Given the description of an element on the screen output the (x, y) to click on. 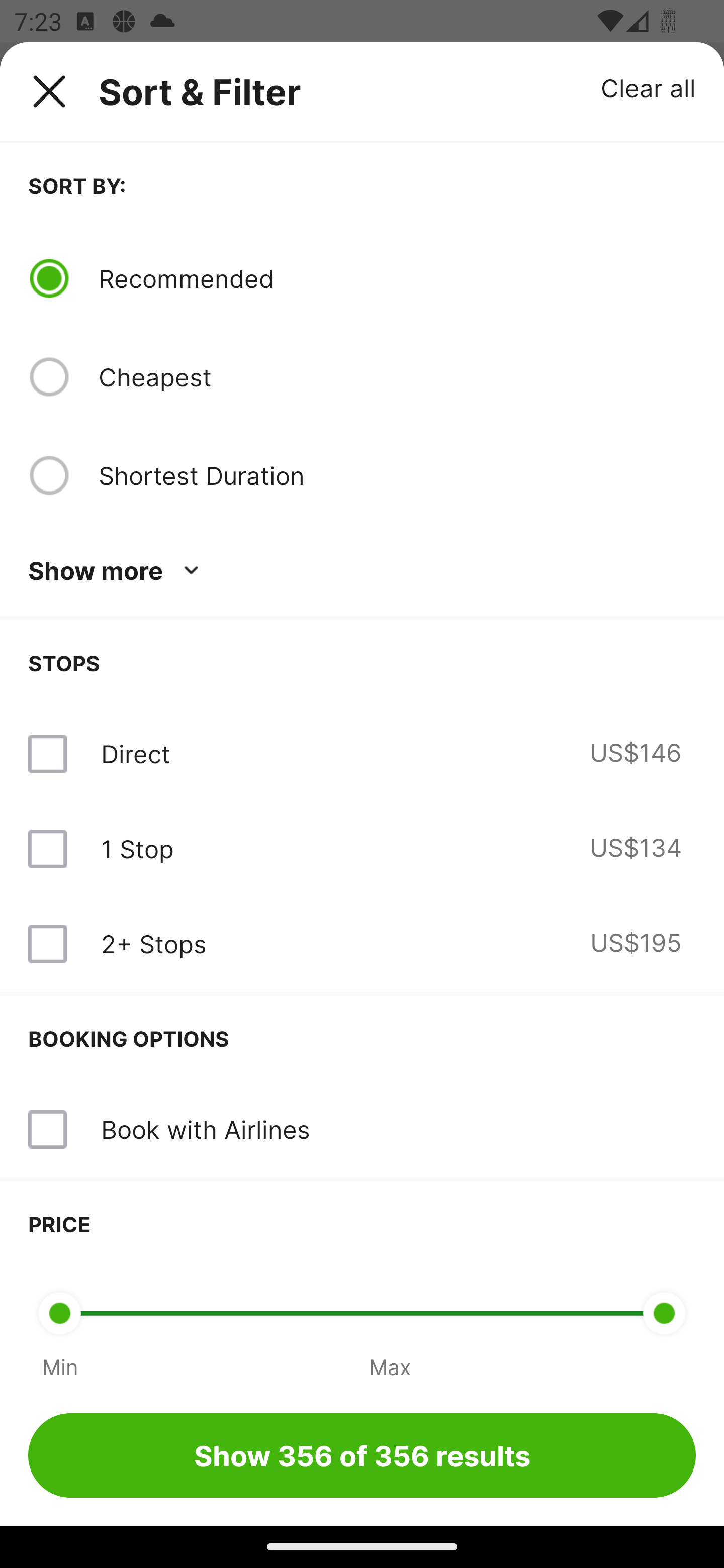
Clear all (648, 87)
Recommended  (396, 278)
Cheapest (396, 377)
Shortest Duration (396, 474)
Show more (116, 570)
Direct US$146 (362, 754)
Direct (135, 753)
1 Stop US$134 (362, 848)
1 Stop (136, 849)
2+ Stops US$195 (362, 943)
2+ Stops (153, 943)
Book with Airlines (362, 1129)
Book with Airlines (204, 1128)
Show 356 of 356 results (361, 1454)
